Given the description of an element on the screen output the (x, y) to click on. 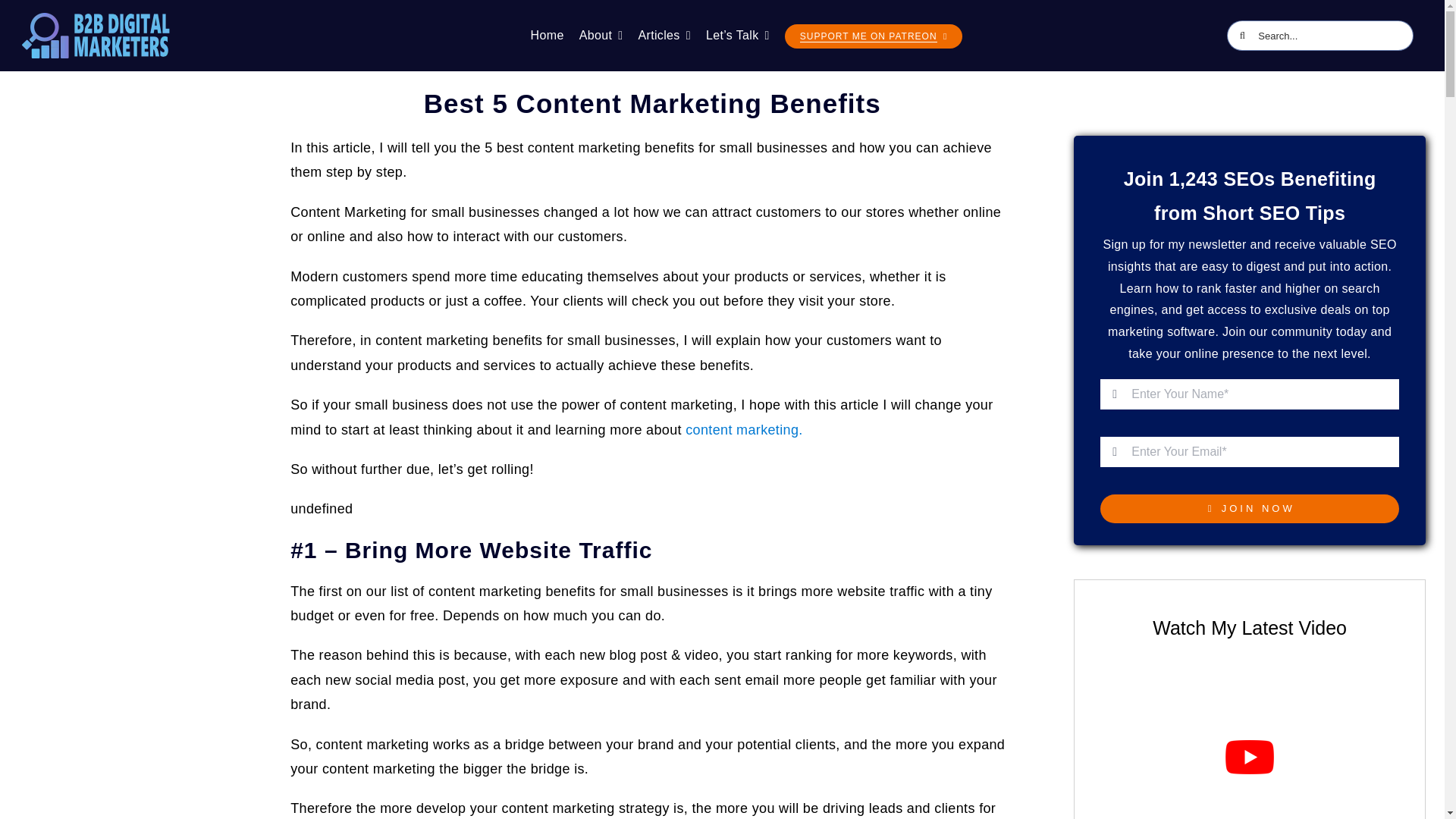
About (601, 35)
Articles (663, 35)
Best 5 Content Marketing Benefits 1 (97, 19)
SUPPORT ME ON PATREON (873, 36)
content marketing. (743, 429)
